Given the description of an element on the screen output the (x, y) to click on. 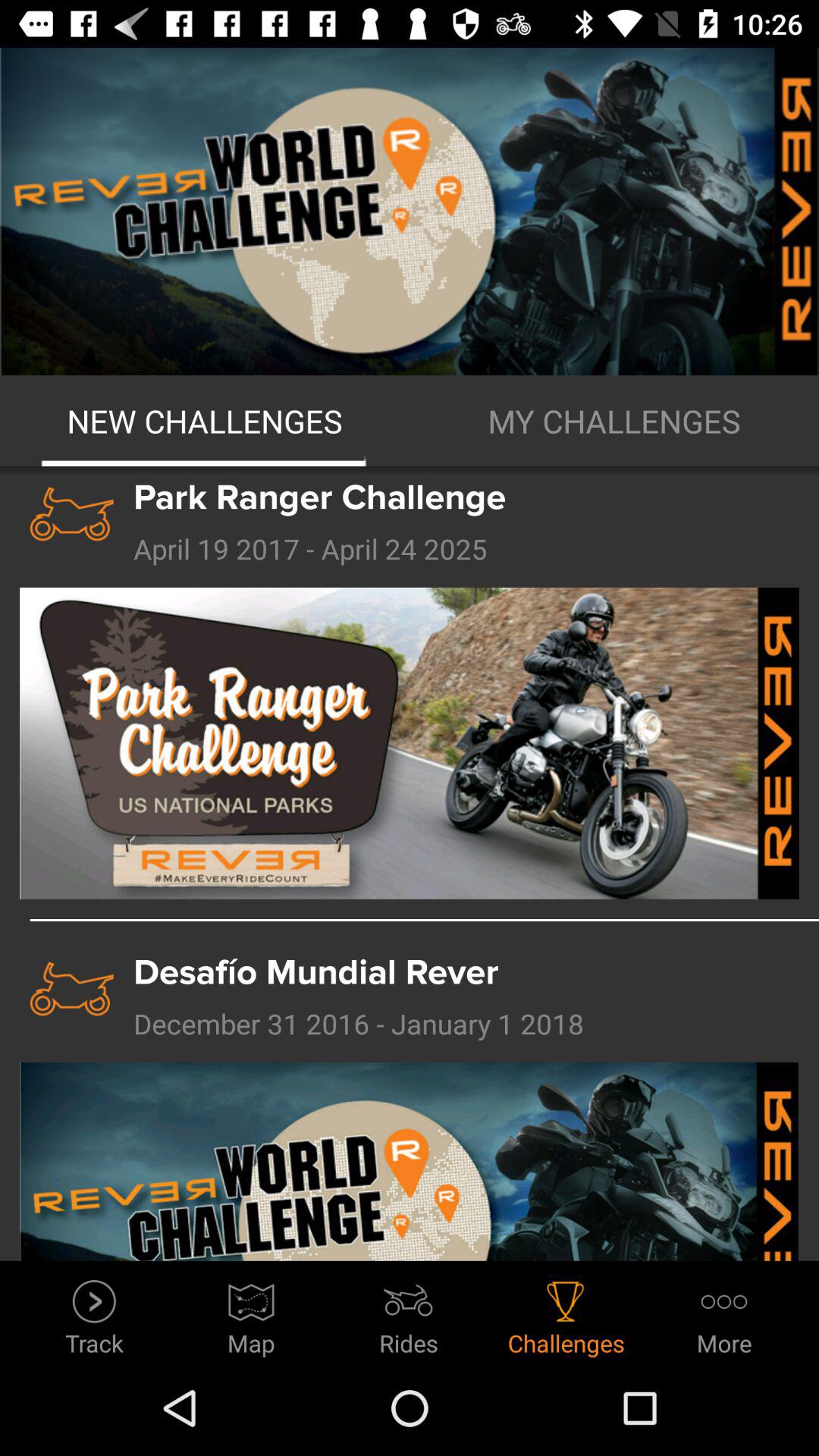
click the new challenges item (204, 420)
